Given the description of an element on the screen output the (x, y) to click on. 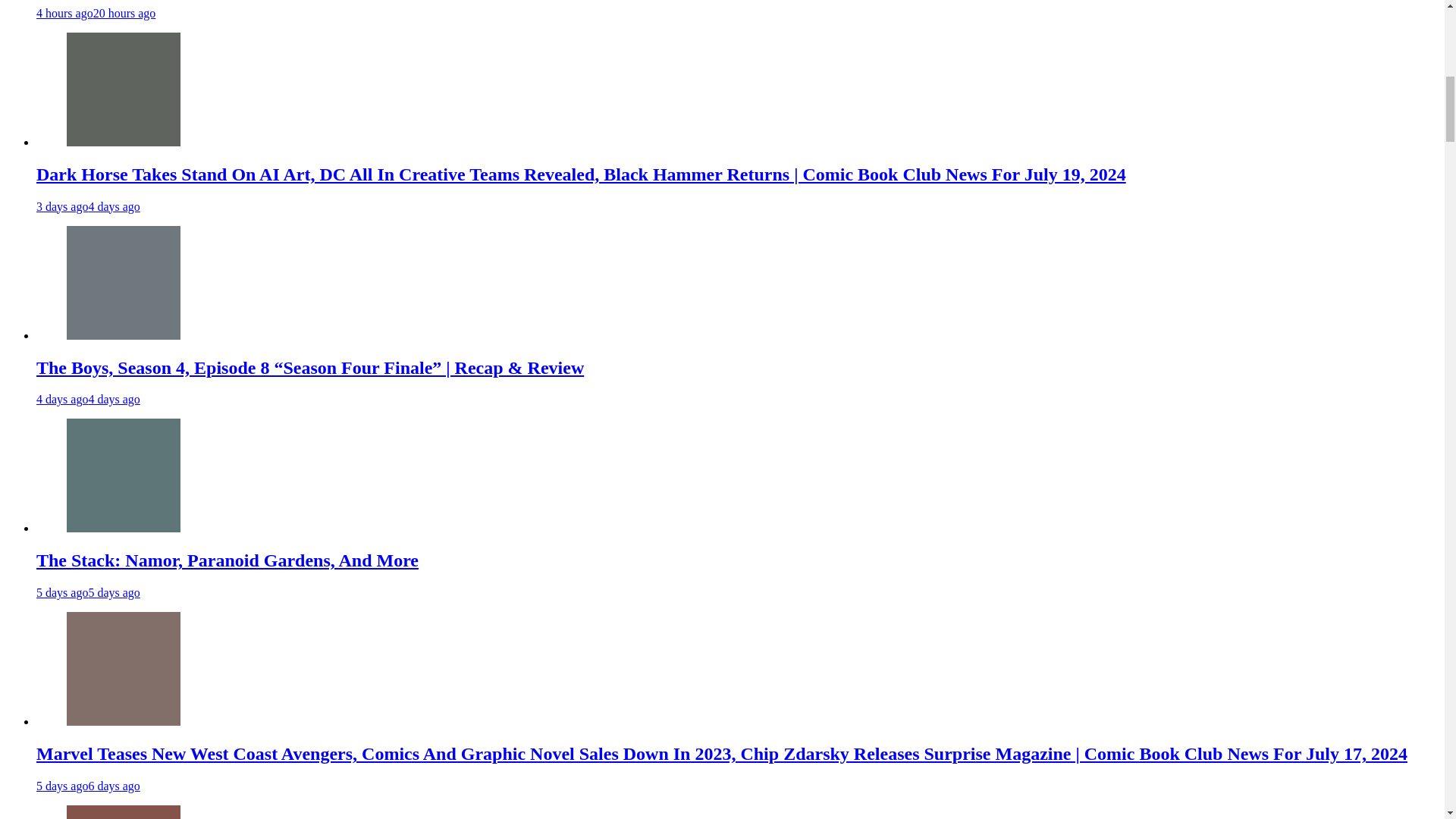
The Stack: Namor, Paranoid Gardens, And More (123, 527)
The Stack: Namor, Paranoid Gardens, And More (227, 560)
The Stack: Namor, Paranoid Gardens, And More (123, 475)
